Given the description of an element on the screen output the (x, y) to click on. 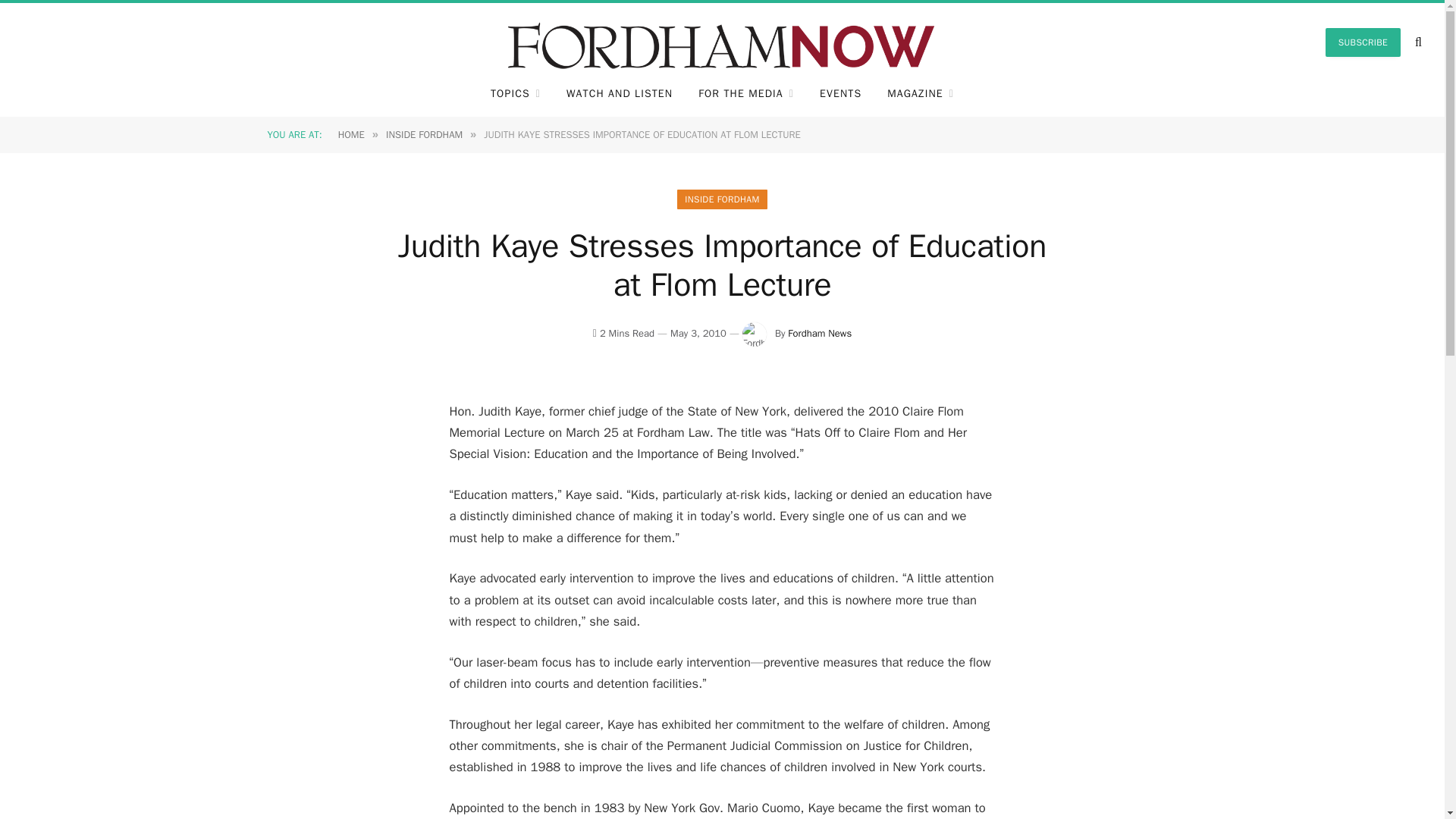
MAGAZINE (920, 94)
FOR THE MEDIA (745, 94)
HOME (351, 133)
SUBSCRIBE (1362, 41)
INSIDE FORDHAM (424, 133)
Posts by Fordham News (819, 332)
Fordham News (819, 332)
WATCH AND LISTEN (619, 94)
EVENTS (840, 94)
TOPICS (515, 94)
